Given the description of an element on the screen output the (x, y) to click on. 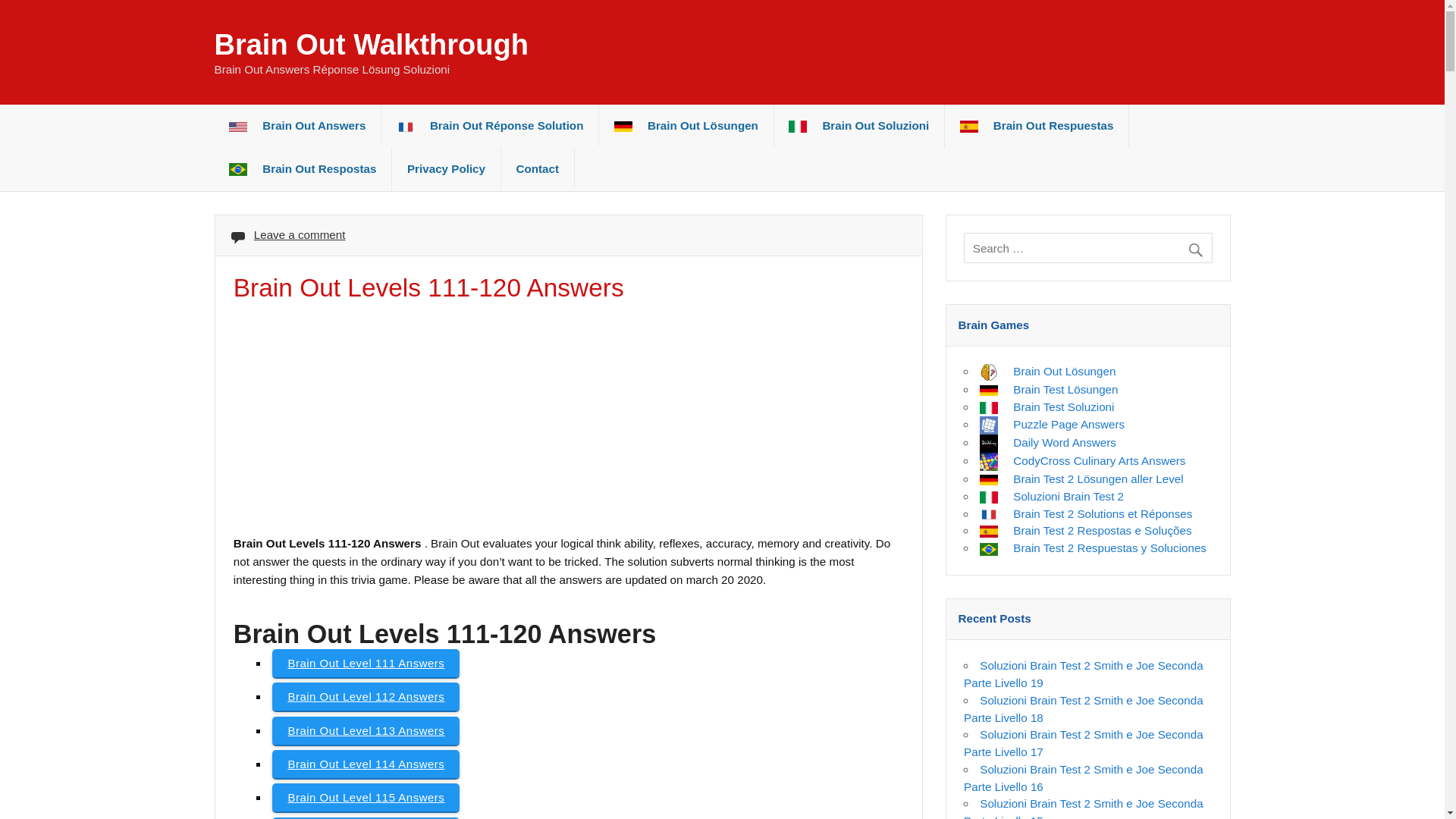
Brain Out Respostas (302, 169)
Leave a comment (299, 234)
Brain Out Level 115 Answers (366, 796)
Soluzioni Brain Test 2 Smith e Joe Seconda Parte Livello 19 (1083, 674)
Brain Out Level 111 Answers (366, 663)
Brain Out Walkthrough (370, 44)
CodyCross Culinary Arts Answers (1082, 460)
Daily Word Answers (1047, 441)
Soluzioni Brain Test 2 Smith e Joe Seconda Parte Livello 18 (1083, 708)
